Given the description of an element on the screen output the (x, y) to click on. 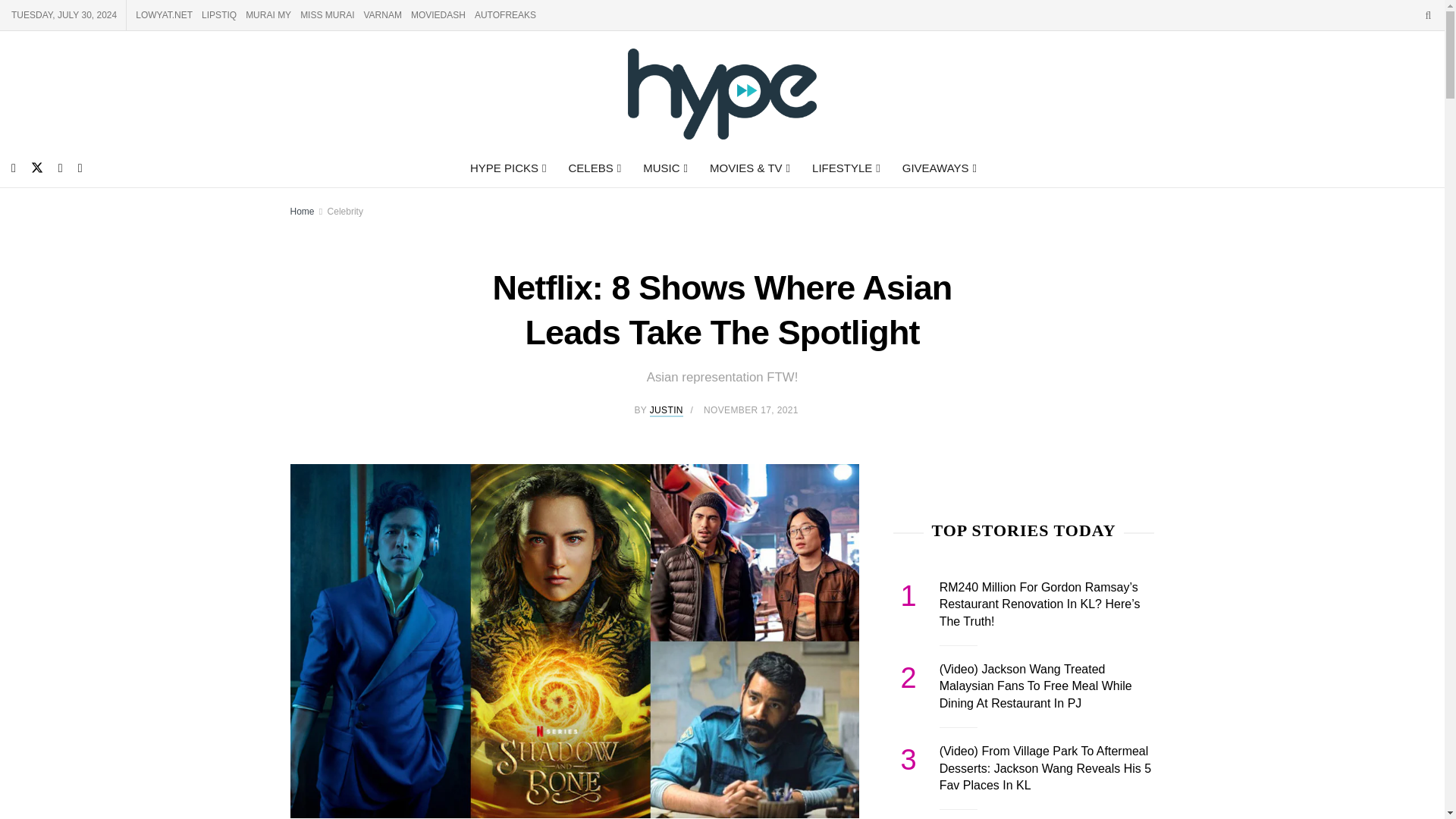
LIPSTIQ (218, 15)
MURAI MY (268, 15)
MISS MURAI (326, 15)
MOVIEDASH (437, 15)
LIFESTYLE (844, 168)
VARNAM (381, 15)
AUTOFREAKS (504, 15)
GIVEAWAYS (938, 168)
LOWYAT.NET (163, 15)
MUSIC (663, 168)
HYPE PICKS (507, 168)
CELEBS (593, 168)
